Given the description of an element on the screen output the (x, y) to click on. 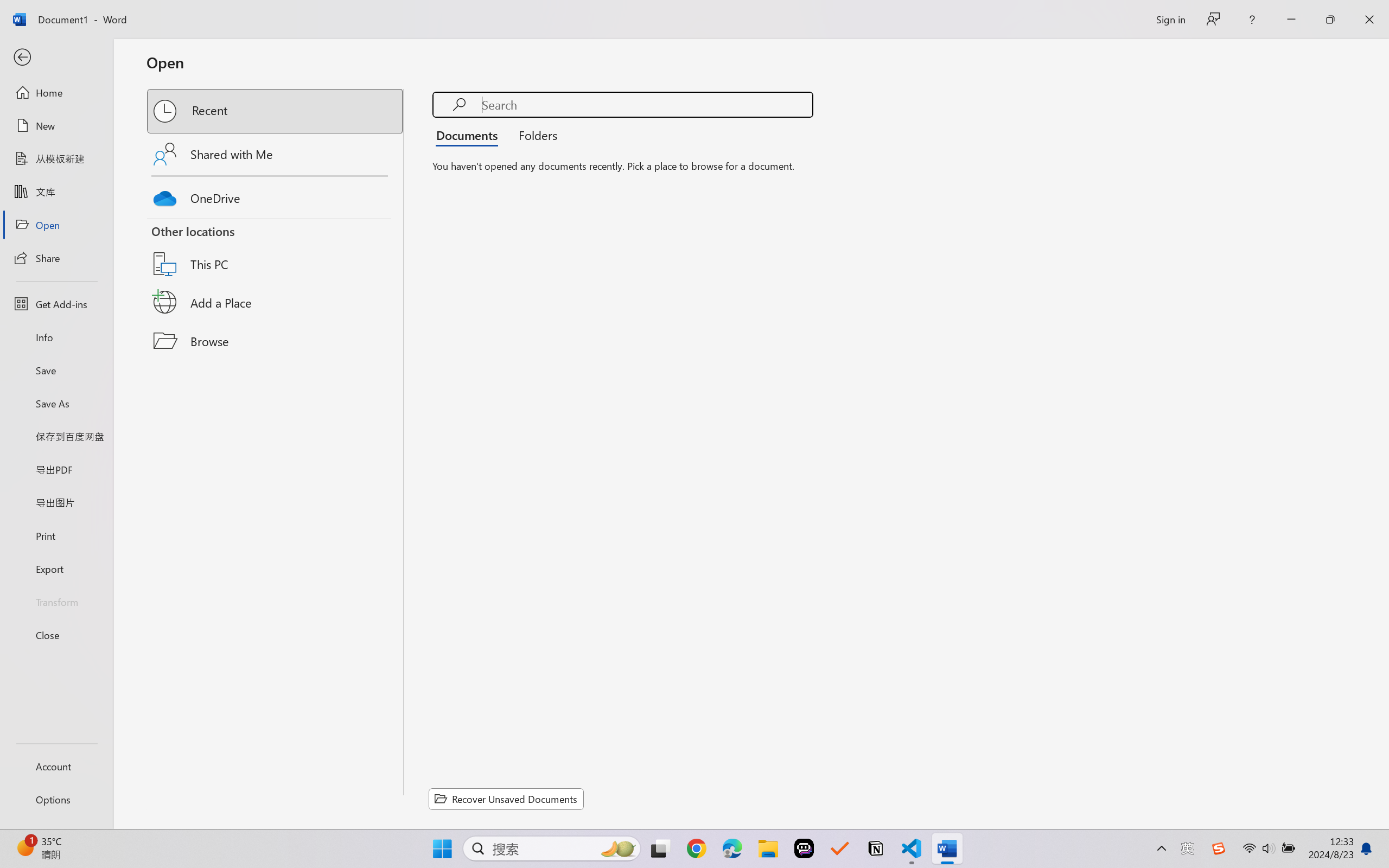
Add a Place (275, 302)
Recent (275, 110)
Shared with Me (275, 153)
Export (56, 568)
Back (56, 57)
OneDrive (275, 195)
